Given the description of an element on the screen output the (x, y) to click on. 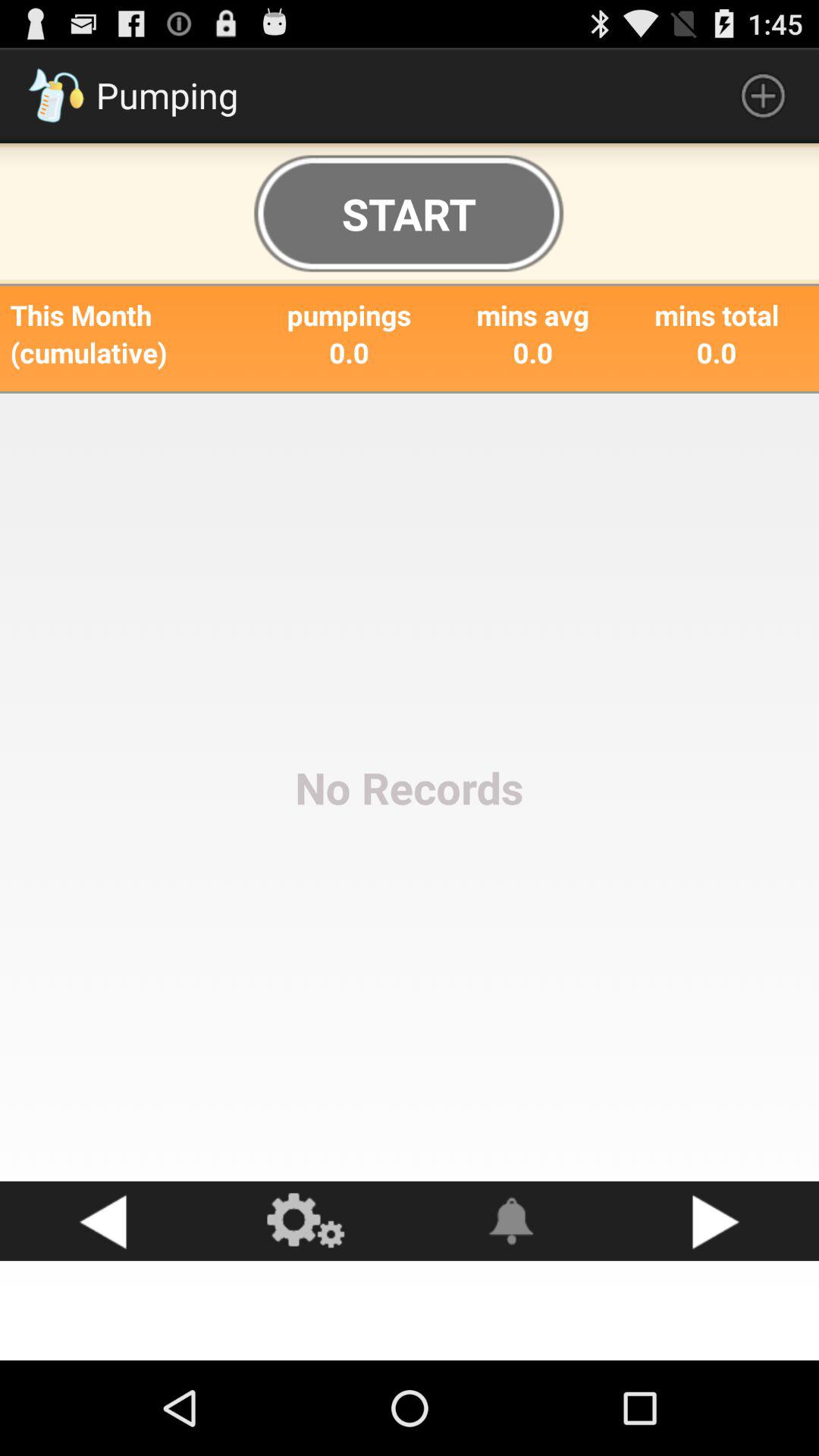
go next button (716, 1220)
